Given the description of an element on the screen output the (x, y) to click on. 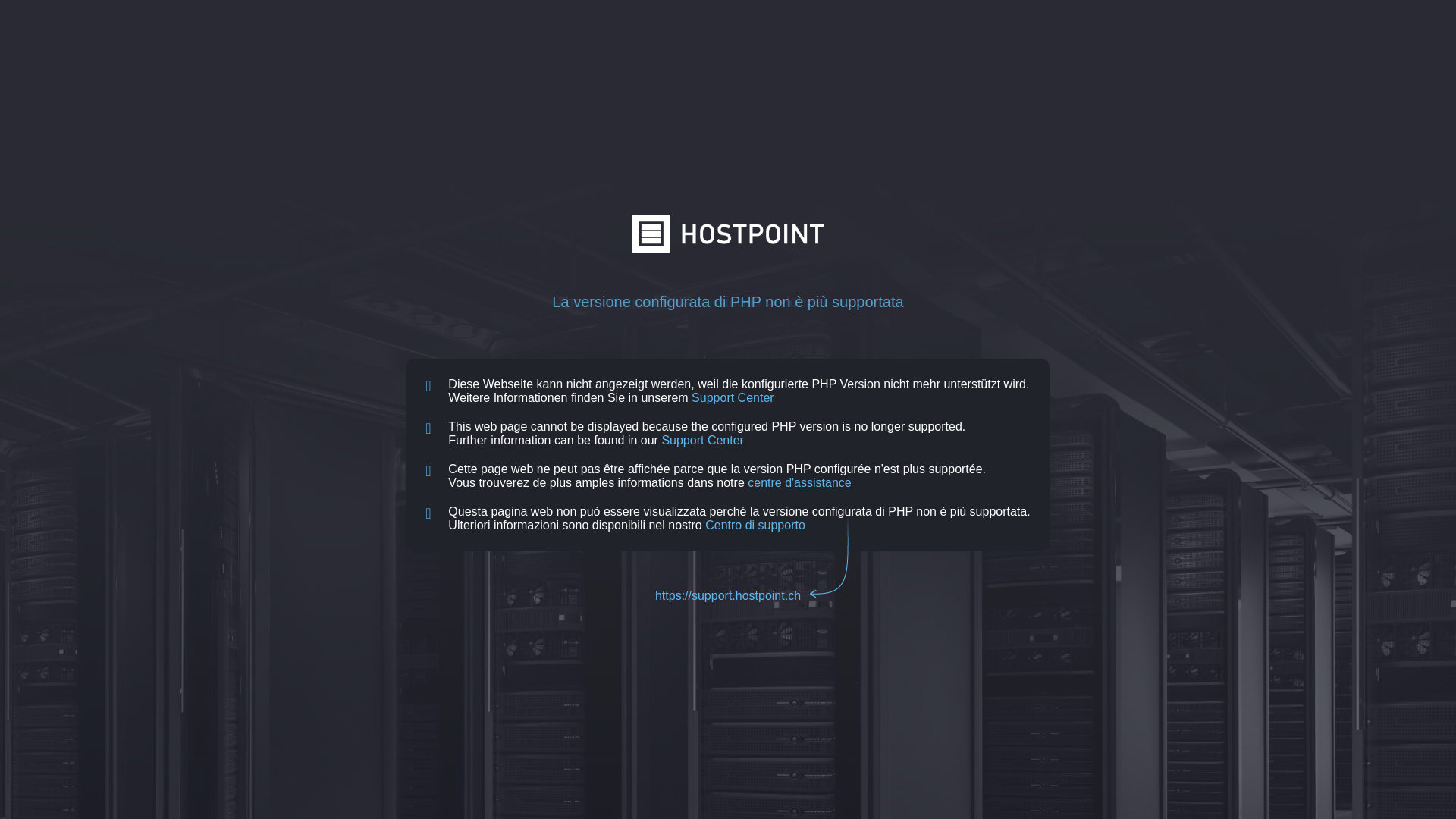
Centro di supporto Element type: text (755, 524)
Support Center Element type: text (702, 439)
Support Center Element type: text (732, 397)
https://support.hostpoint.ch Element type: text (727, 595)
centre d'assistance Element type: text (798, 482)
